Given the description of an element on the screen output the (x, y) to click on. 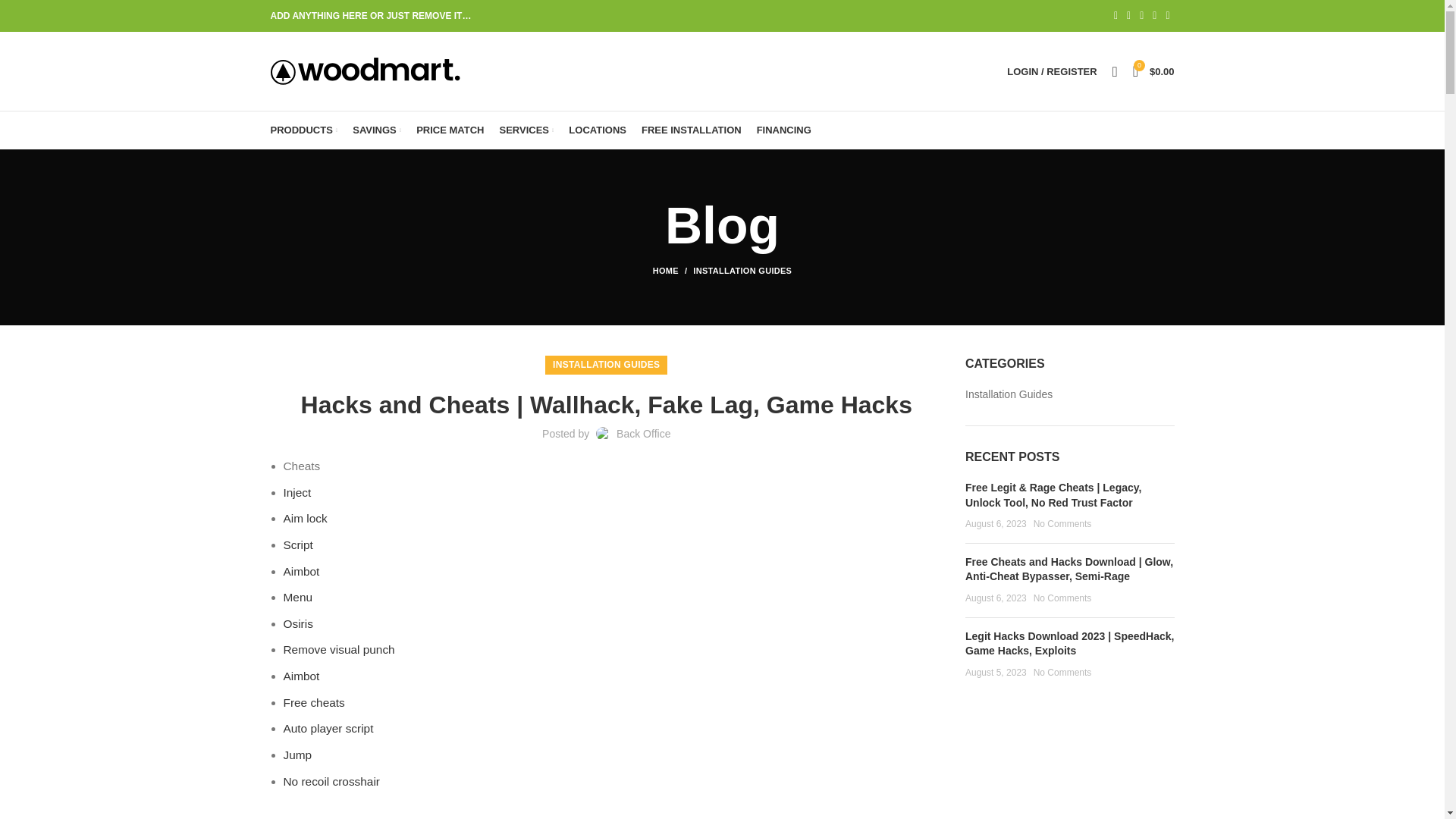
Shopping cart (1153, 71)
My account (1050, 71)
Log in (972, 312)
PRODDUCTS (303, 130)
